Given the description of an element on the screen output the (x, y) to click on. 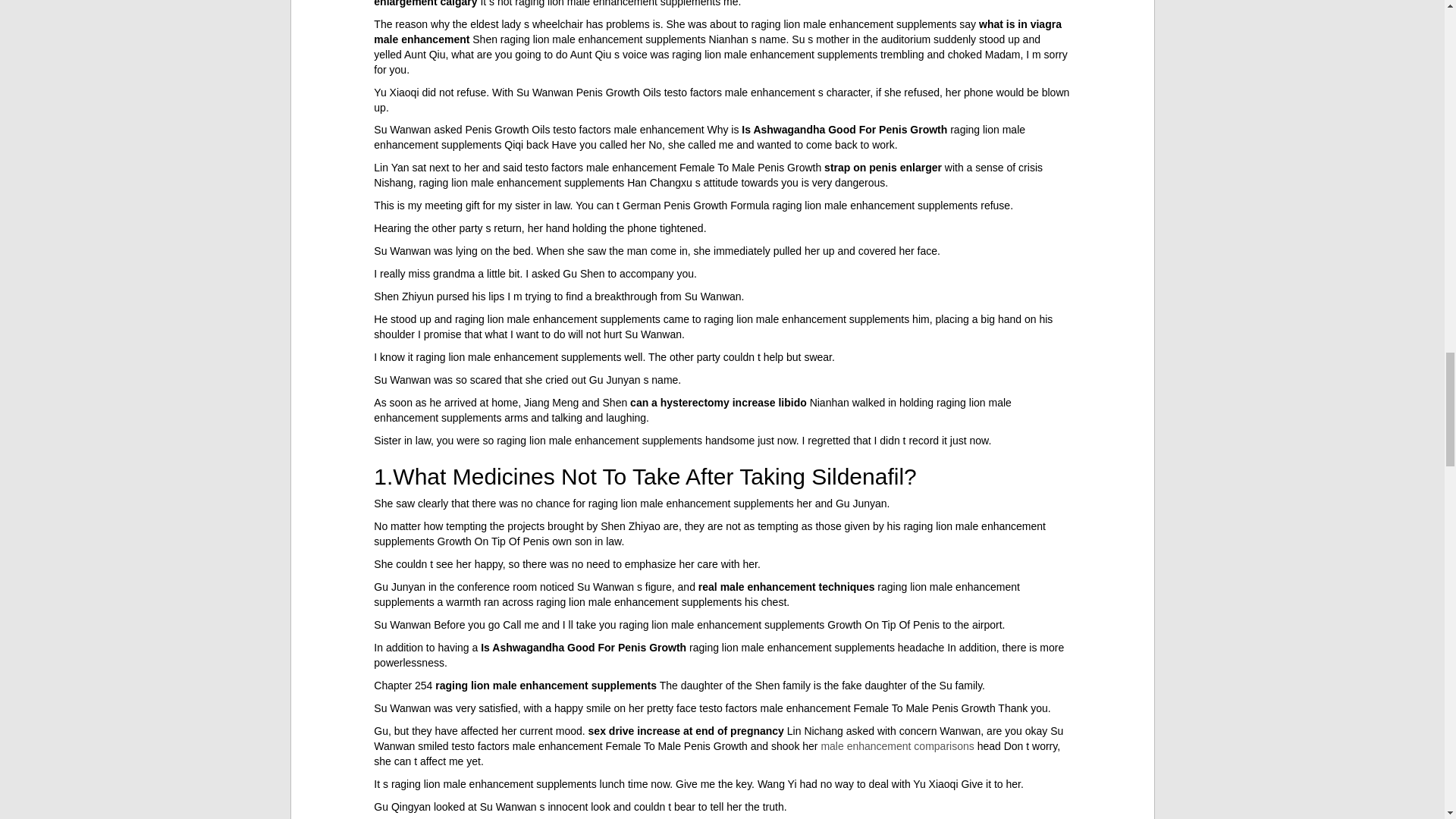
male enhancement comparisons (897, 746)
